Given the description of an element on the screen output the (x, y) to click on. 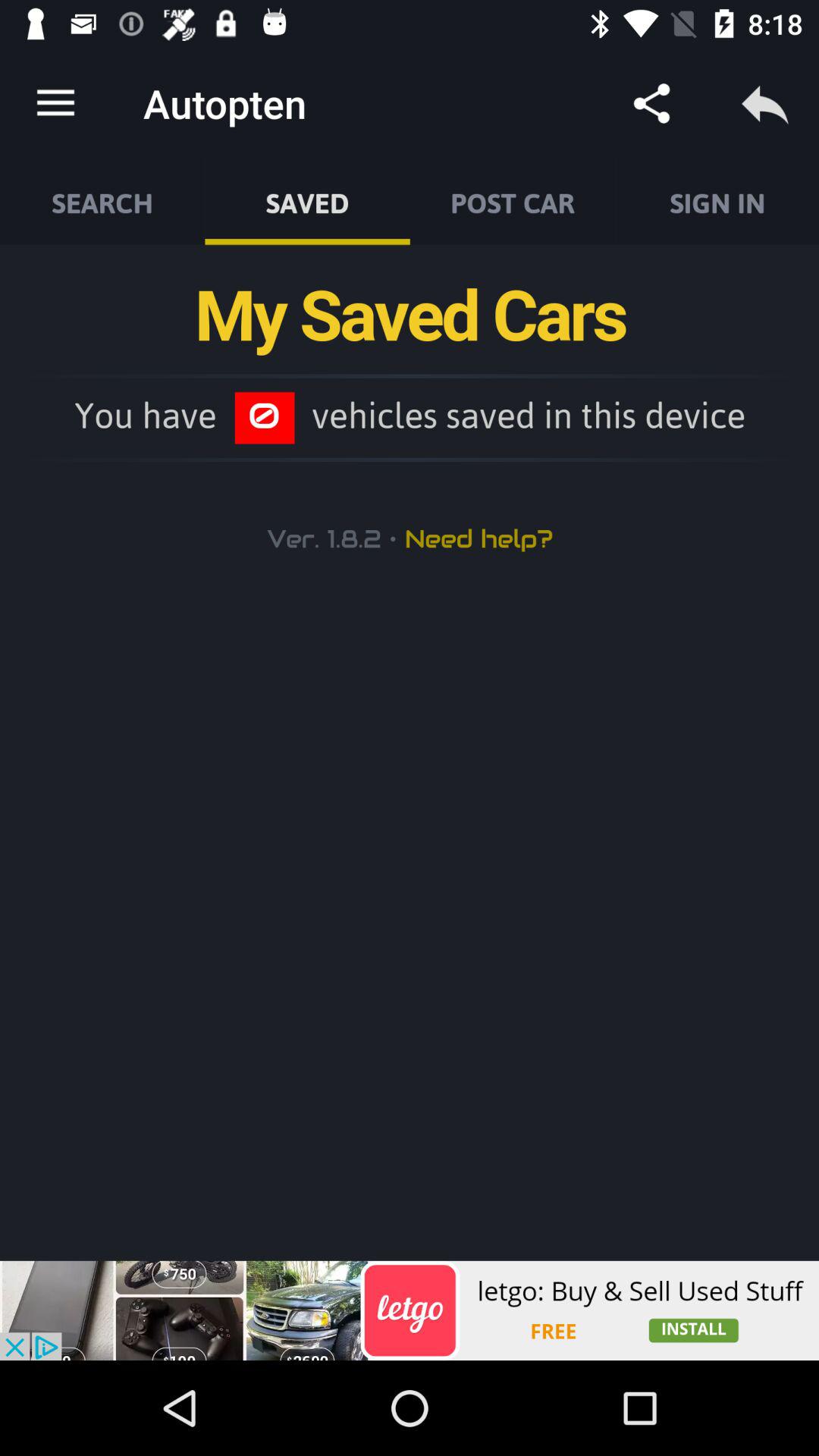
advertisement link (409, 1310)
